Given the description of an element on the screen output the (x, y) to click on. 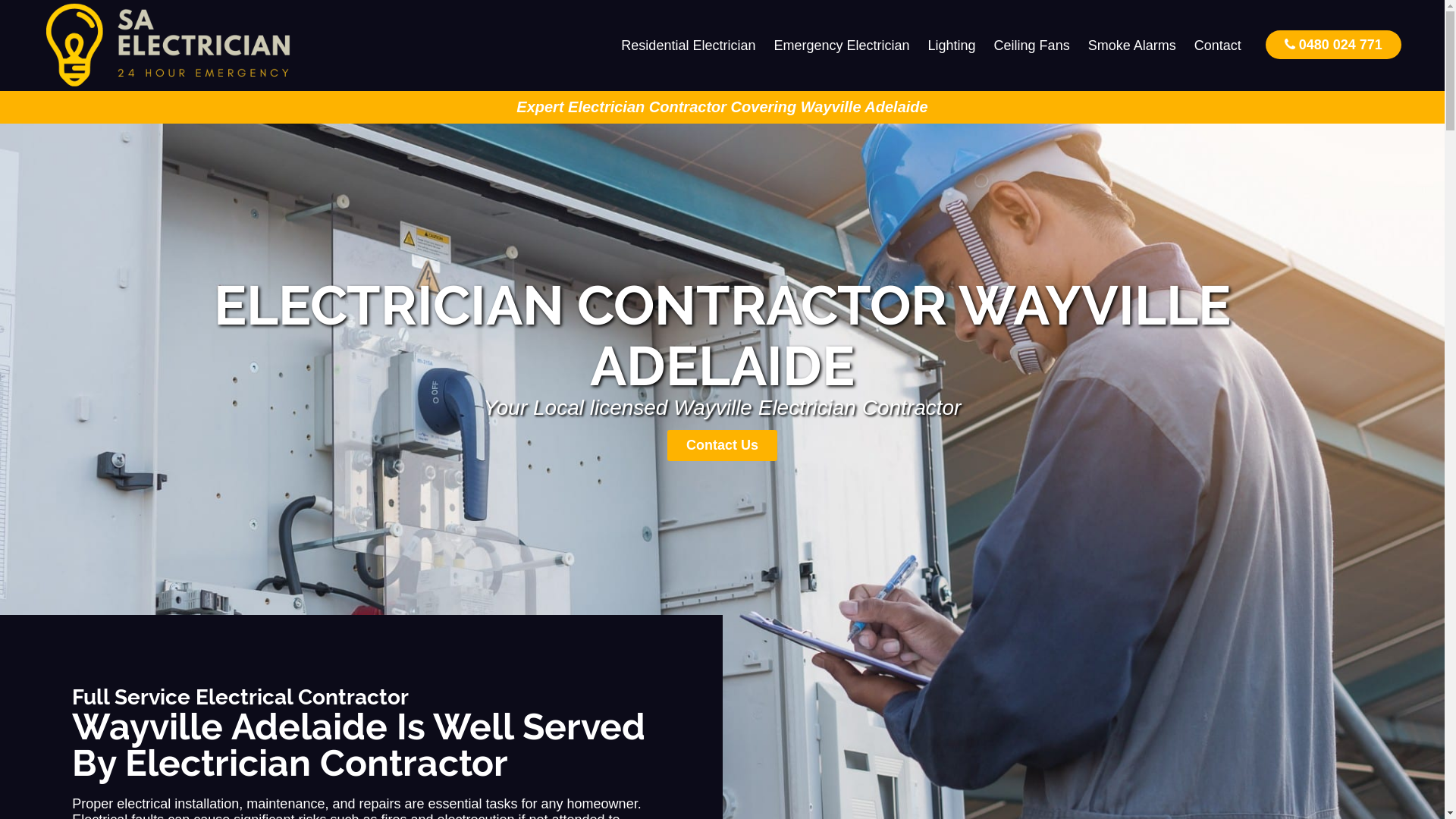
Smoke Alarms Element type: text (1132, 45)
0480 024 771 Element type: text (1333, 44)
Emergency Electrician Element type: text (841, 45)
Contact Element type: text (1217, 45)
Contact Us Element type: text (722, 445)
Residential Electrician Element type: text (687, 45)
Ceiling Fans Element type: text (1032, 45)
Lighting Element type: text (952, 45)
